Given the description of an element on the screen output the (x, y) to click on. 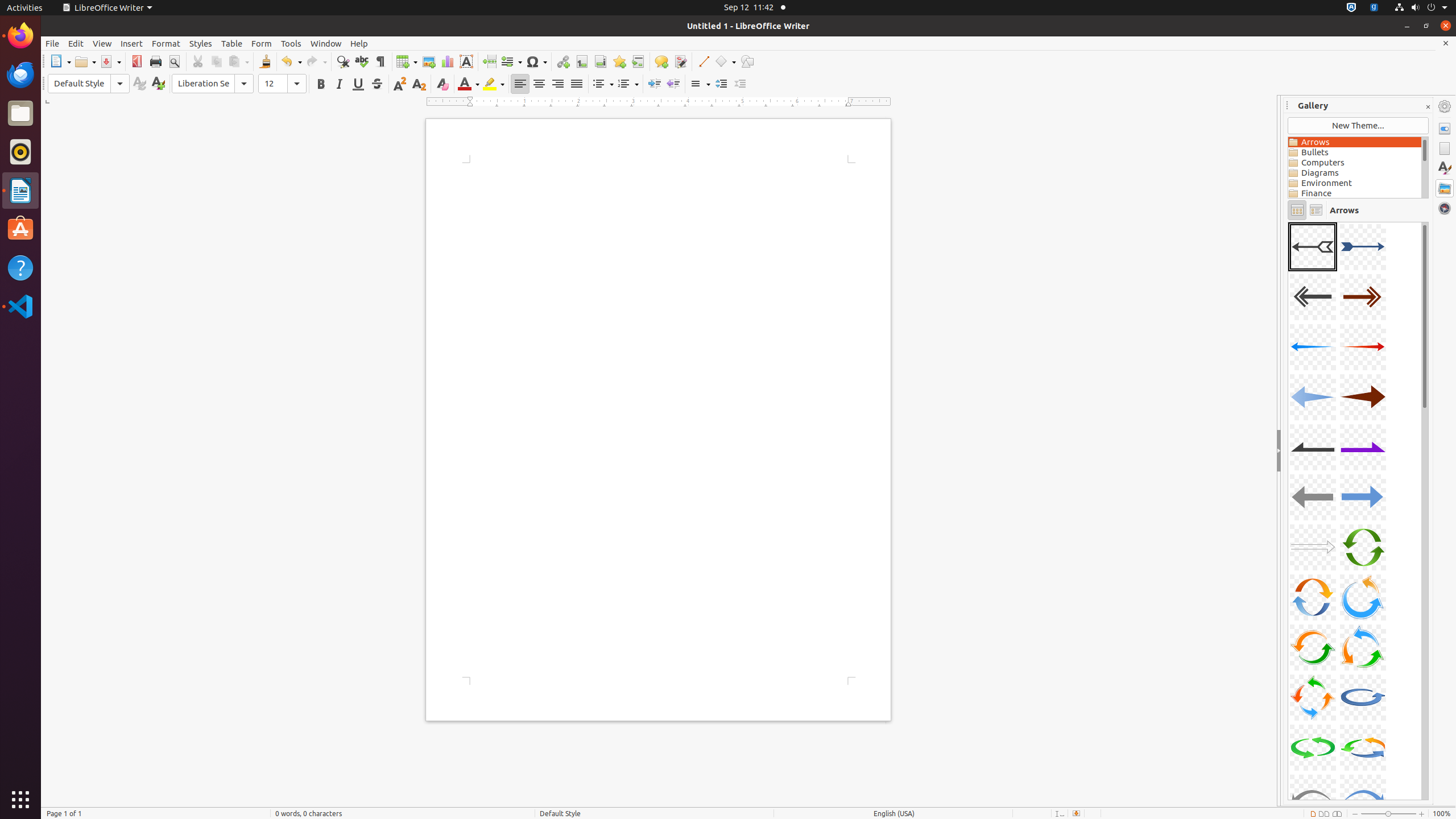
Detailed View Element type: toggle-button (1315, 210)
Bold Element type: toggle-button (320, 83)
Comment Element type: push-button (660, 61)
Line Spacing Element type: push-button (699, 83)
Formatting Marks Element type: toggle-button (379, 61)
